Given the description of an element on the screen output the (x, y) to click on. 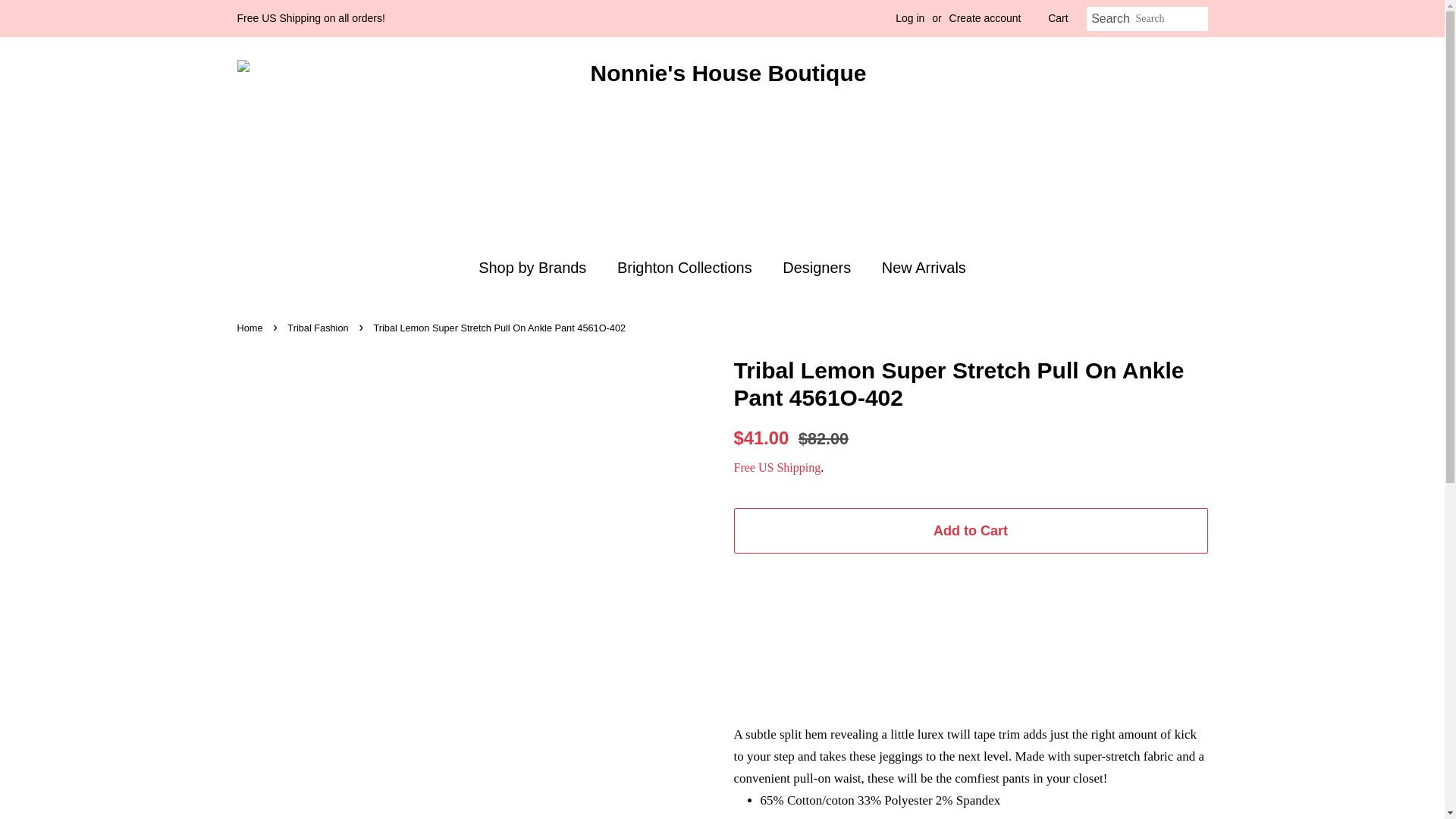
Free US Shipping on all orders! (309, 18)
Search (1110, 18)
Shop by Brands (540, 267)
Create account (985, 18)
Log in (909, 18)
Cart (1057, 18)
Back to the frontpage (250, 327)
